Given the description of an element on the screen output the (x, y) to click on. 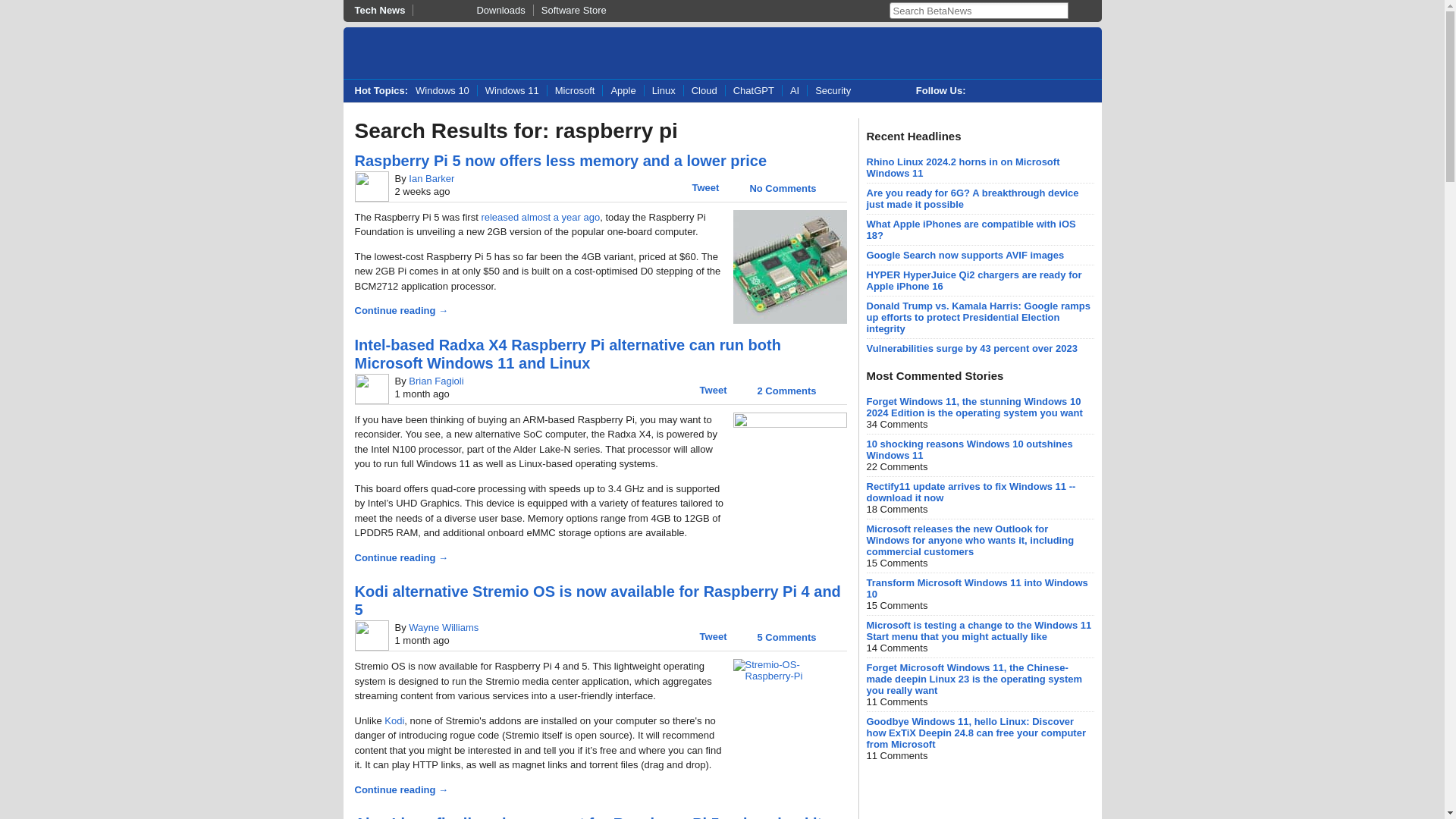
released almost a year ago (539, 216)
Twitter (984, 91)
Search (1076, 10)
BetaNews (417, 54)
Facebook (1017, 91)
AI (793, 90)
Search (1076, 10)
Tweet (713, 389)
Linked-in (1046, 91)
